Given the description of an element on the screen output the (x, y) to click on. 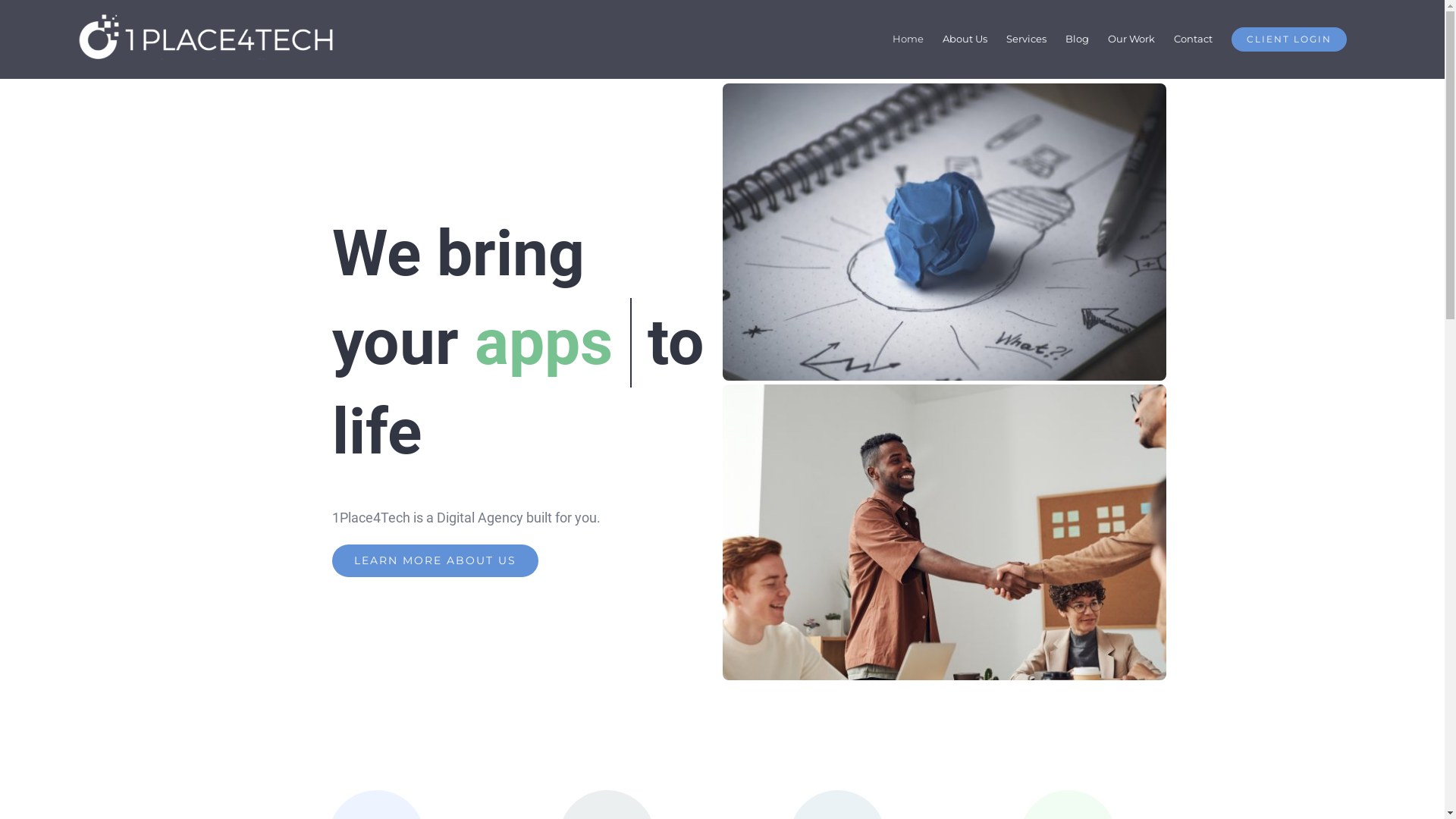
Contact Element type: text (1192, 38)
Services Element type: text (1026, 38)
About Us Element type: text (964, 38)
Our Work Element type: text (1130, 38)
Blog Element type: text (1076, 38)
LEARN MORE ABOUT US Element type: text (435, 560)
Home Element type: text (907, 38)
CLIENT LOGIN Element type: text (1288, 38)
